Given the description of an element on the screen output the (x, y) to click on. 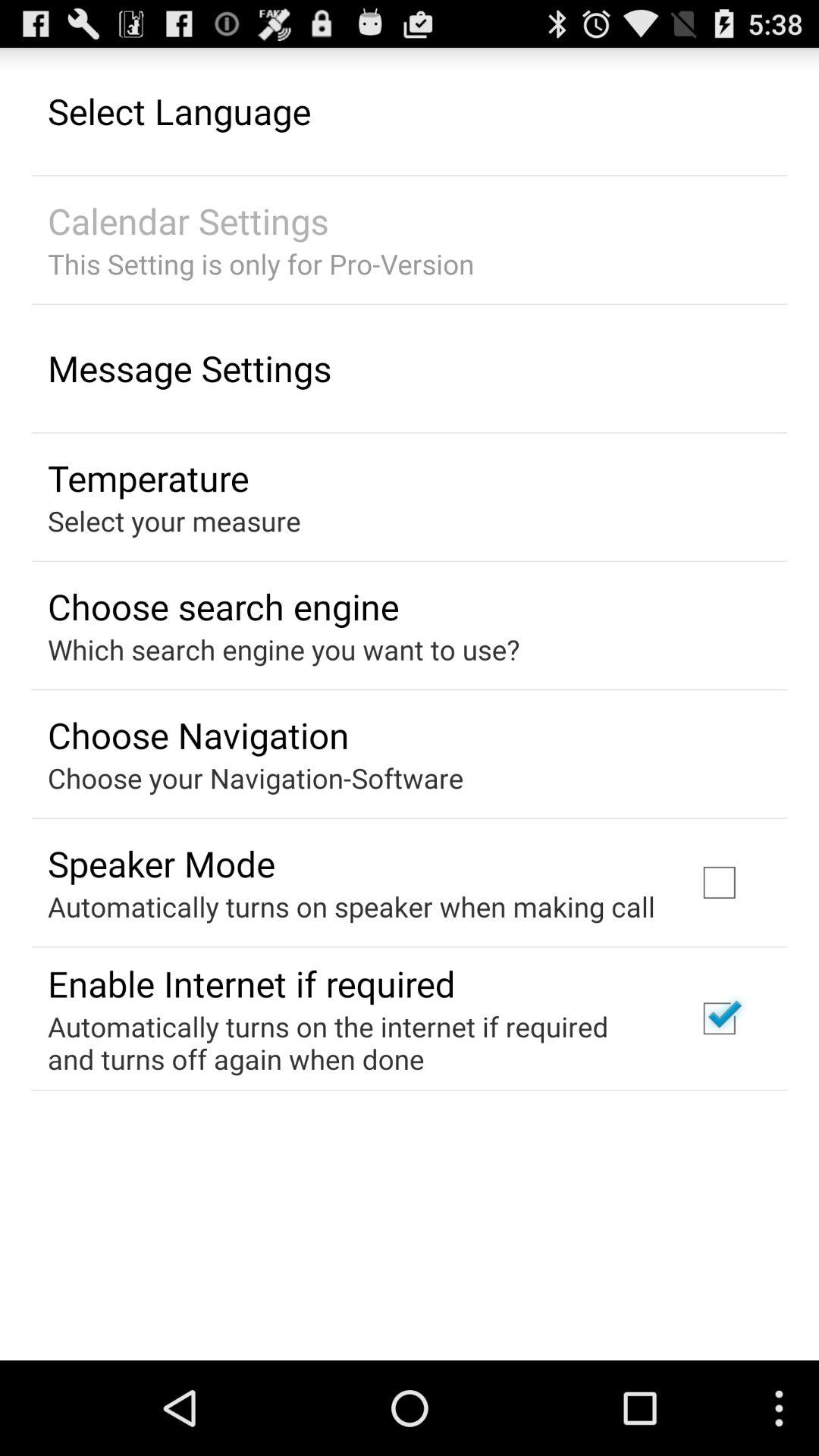
tap the app below calendar settings (260, 263)
